Given the description of an element on the screen output the (x, y) to click on. 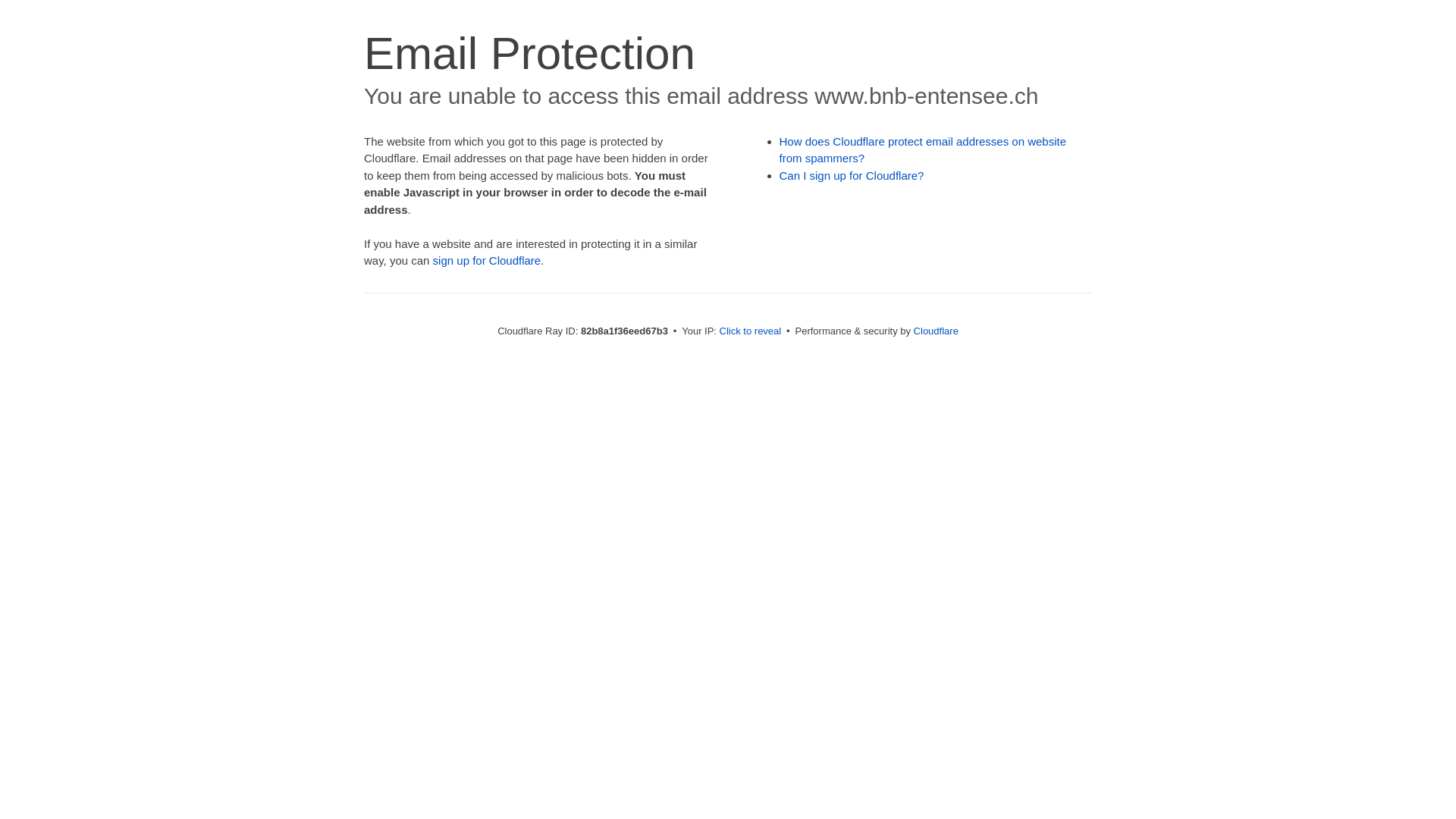
Cloudflare Element type: text (935, 330)
sign up for Cloudflare Element type: text (487, 260)
Can I sign up for Cloudflare? Element type: text (851, 175)
Click to reveal Element type: text (750, 330)
